Given the description of an element on the screen output the (x, y) to click on. 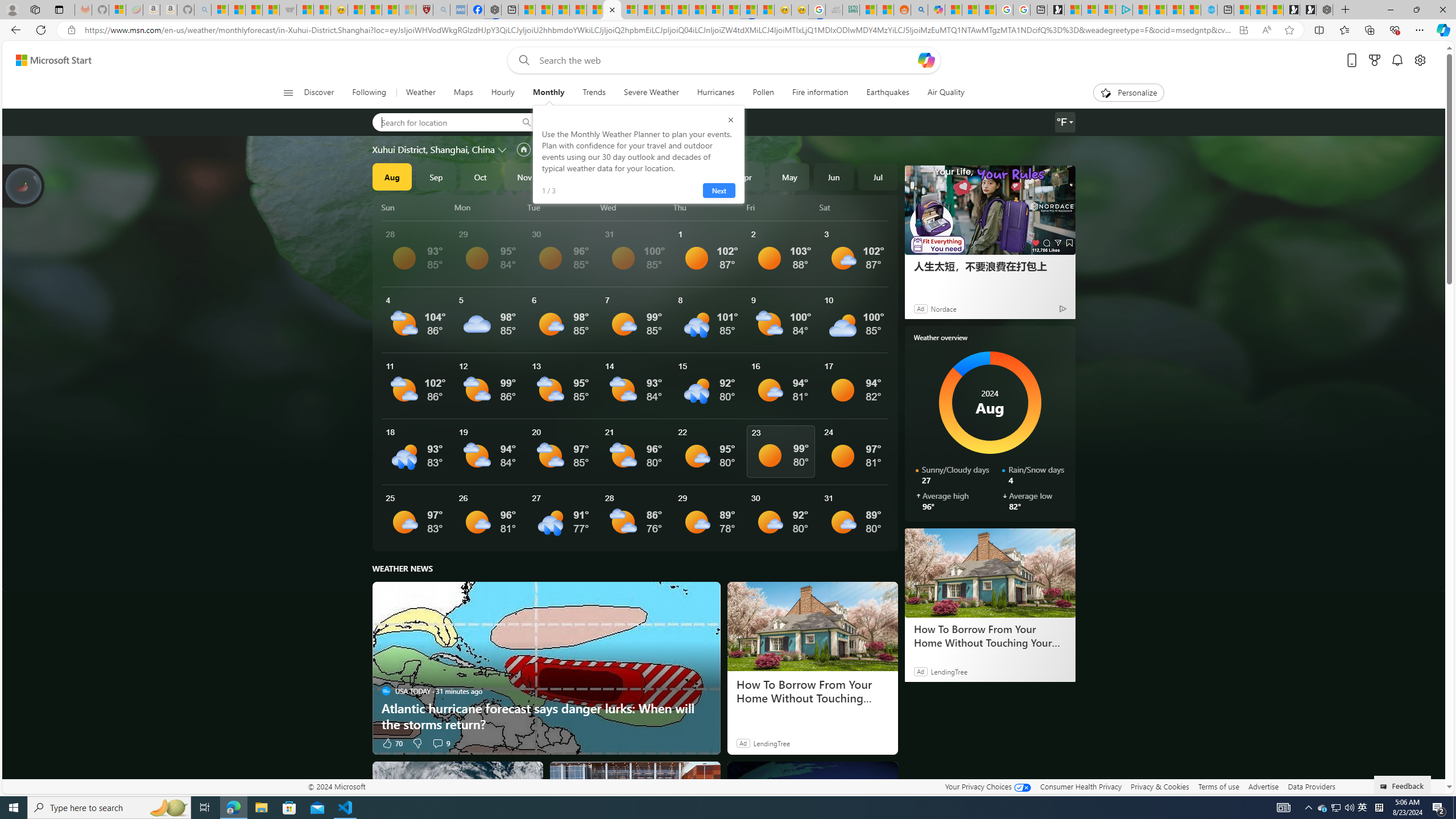
Maps (462, 92)
How To Borrow From Your Home Without Touching Your Mortgage (989, 572)
Feb (657, 176)
Consumer Health Privacy (1080, 786)
2025Jan (612, 176)
AutomationID: donut-chart-monthly (990, 402)
